Given the description of an element on the screen output the (x, y) to click on. 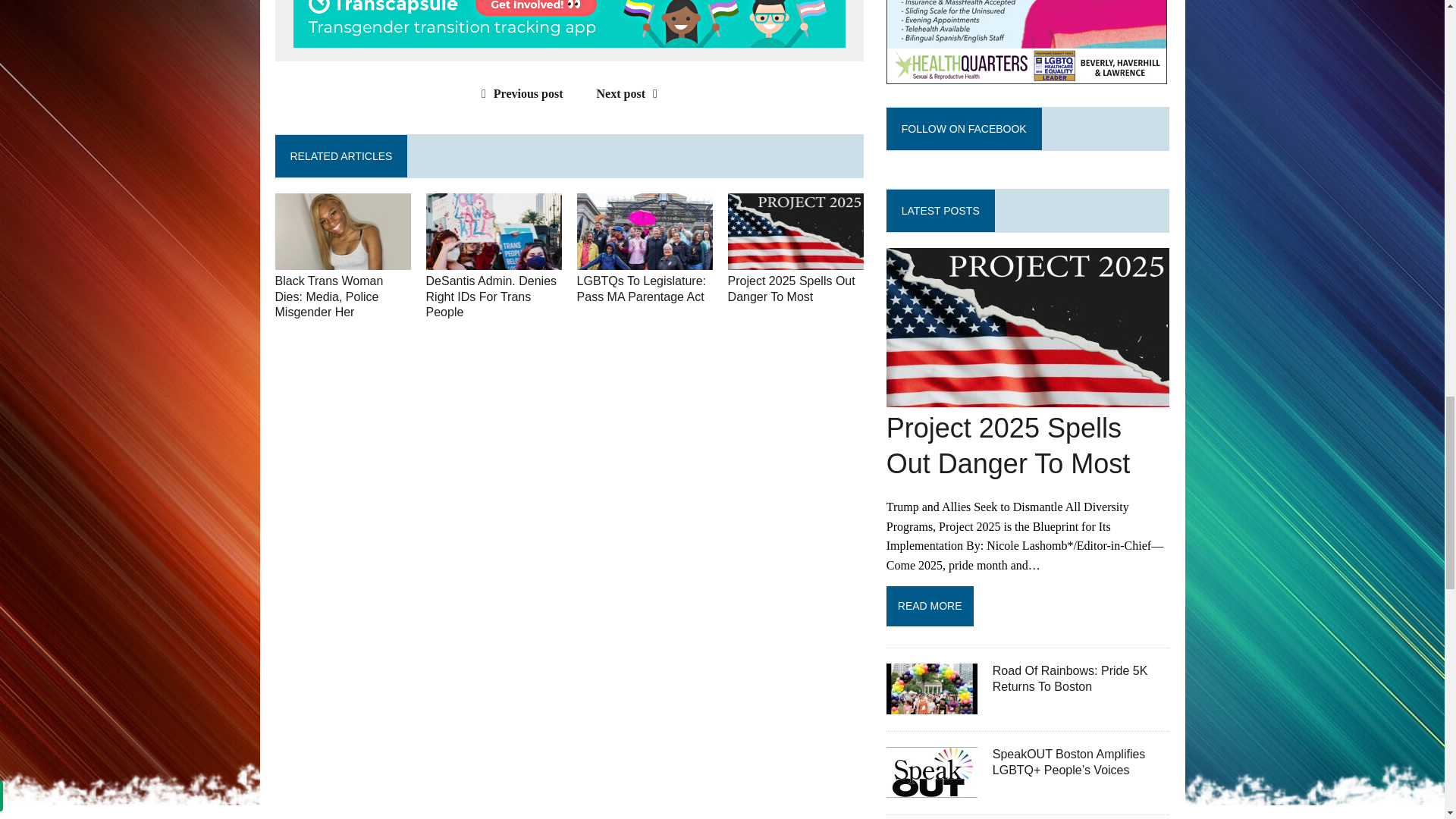
Black Trans Woman Dies: Media, Police Misgender Her (342, 259)
Black Trans Woman Dies: Media, Police Misgender Her (328, 296)
